Given the description of an element on the screen output the (x, y) to click on. 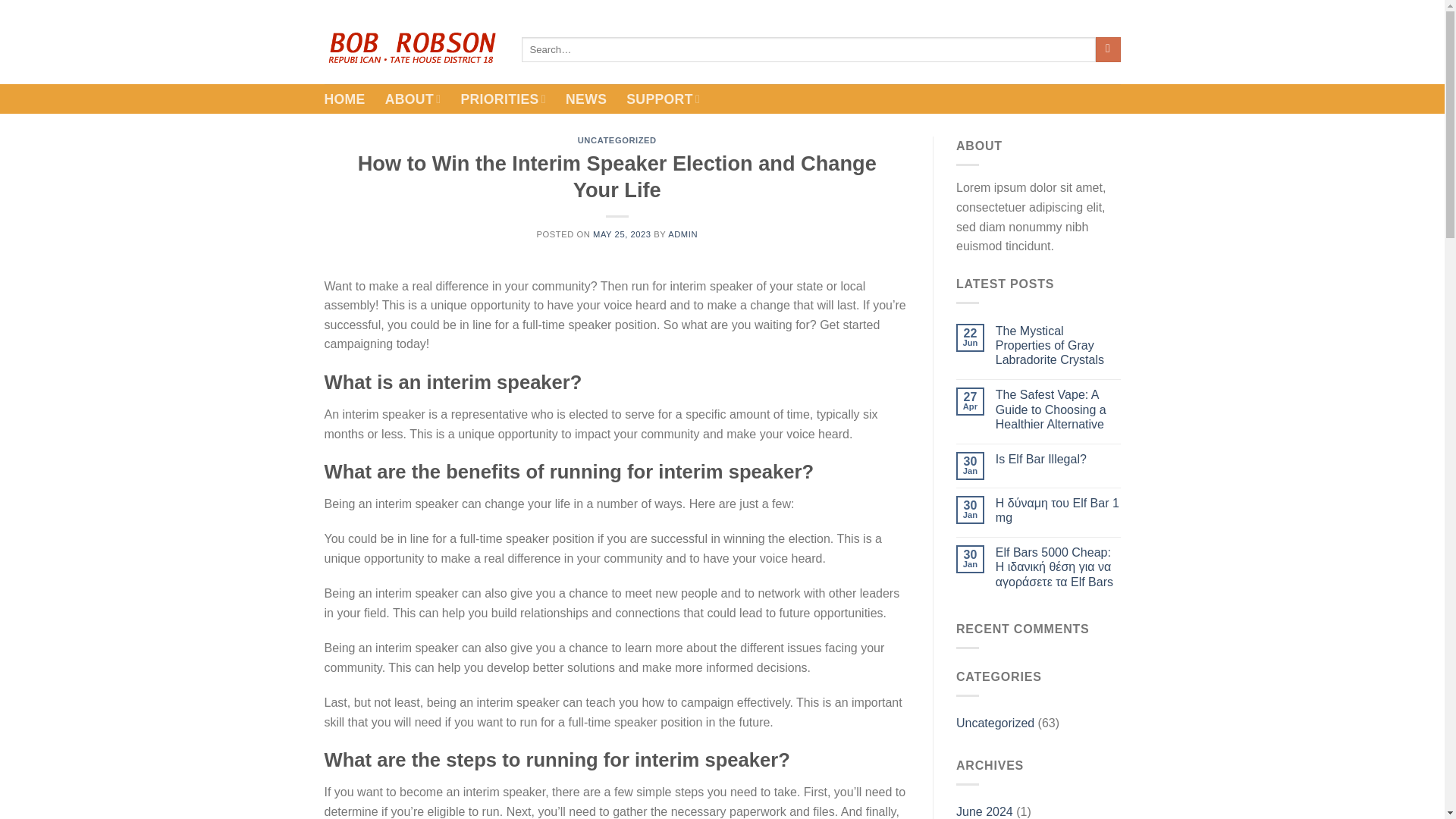
NEWS (586, 99)
Bob Robson (411, 48)
The Safest Vape: A Guide to Choosing a Healthier Alternative (1058, 409)
Is Elf Bar Illegal? (1058, 459)
Search (1108, 49)
Is Elf Bar Illegal? (1058, 459)
PRIORITIES (503, 98)
The Mystical Properties of Gray Labradorite Crystals (1058, 345)
ADMIN (682, 234)
The Mystical Properties of Gray Labradorite Crystals (1058, 345)
SUPPORT (663, 98)
MAY 25, 2023 (621, 234)
The Safest Vape: A Guide to Choosing a Healthier Alternative (1058, 409)
UNCATEGORIZED (617, 139)
ABOUT (413, 98)
